Given the description of an element on the screen output the (x, y) to click on. 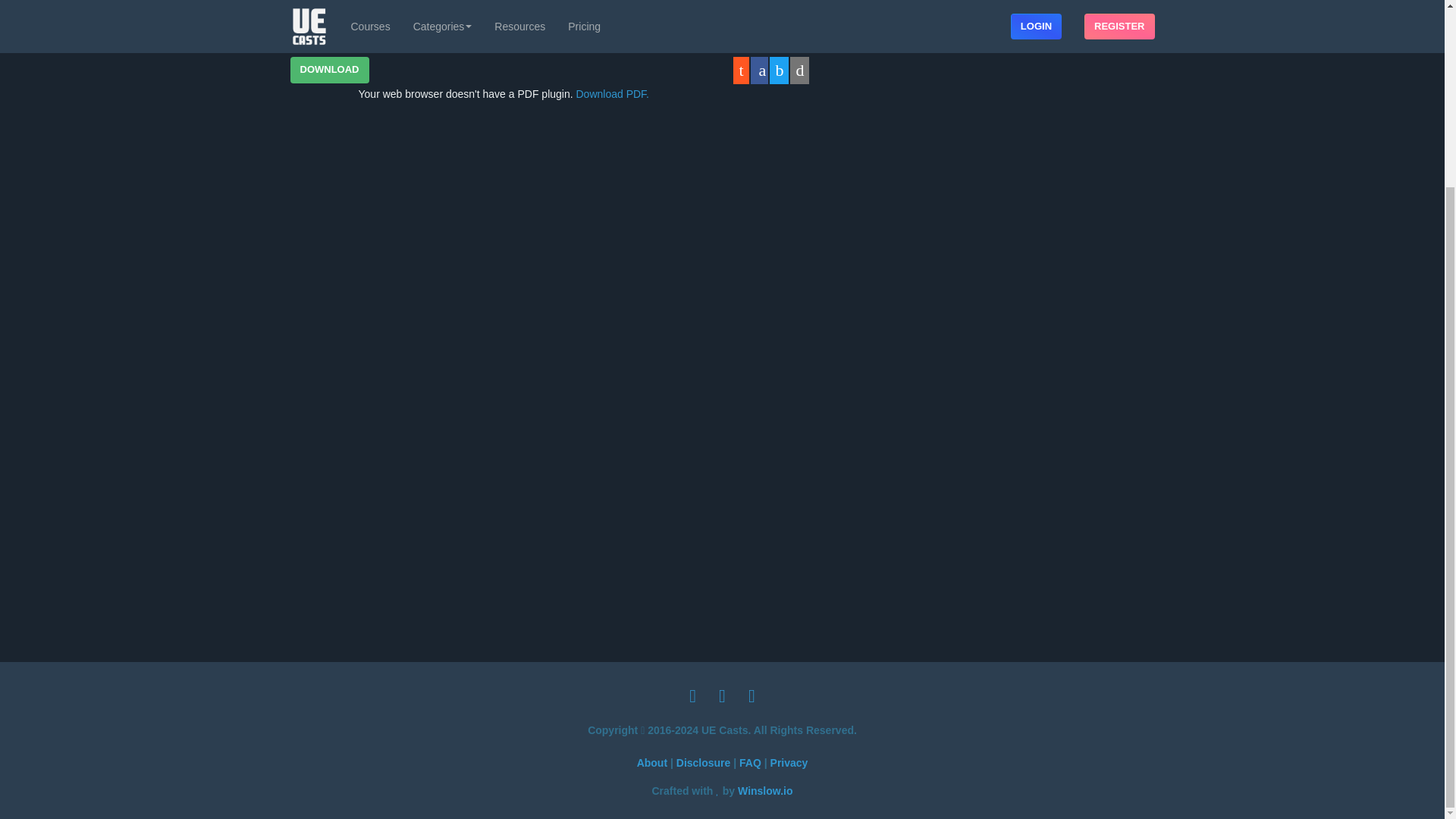
About (651, 762)
Winslow.io (765, 790)
UE4 (310, 2)
DOWNLOAD (328, 69)
Disclosure (703, 762)
Privacy (789, 762)
Download PDF. (612, 93)
UE4 (309, 6)
FAQ (750, 762)
DOWNLOAD (328, 69)
